Given the description of an element on the screen output the (x, y) to click on. 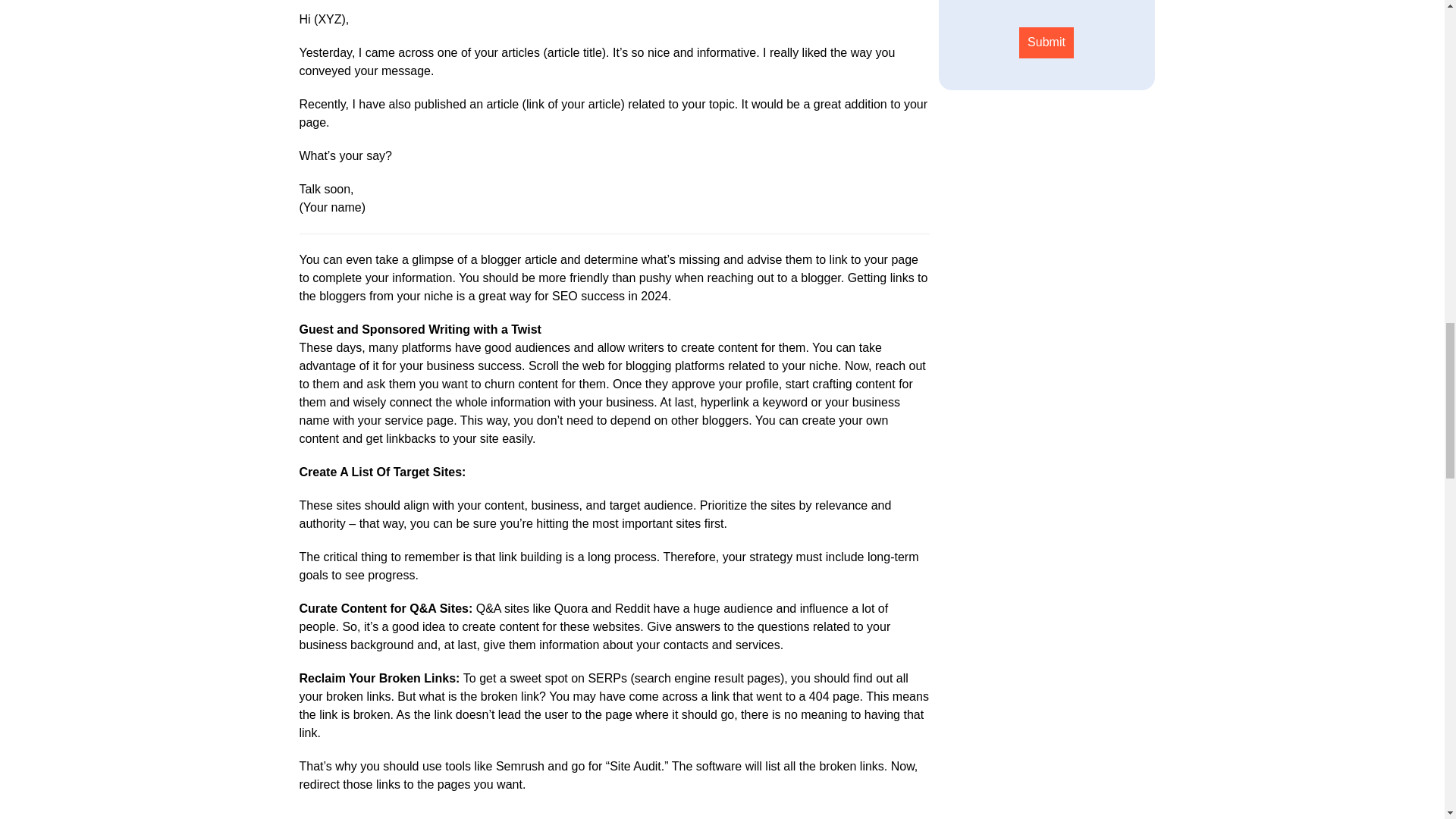
Submit (1046, 42)
